Given the description of an element on the screen output the (x, y) to click on. 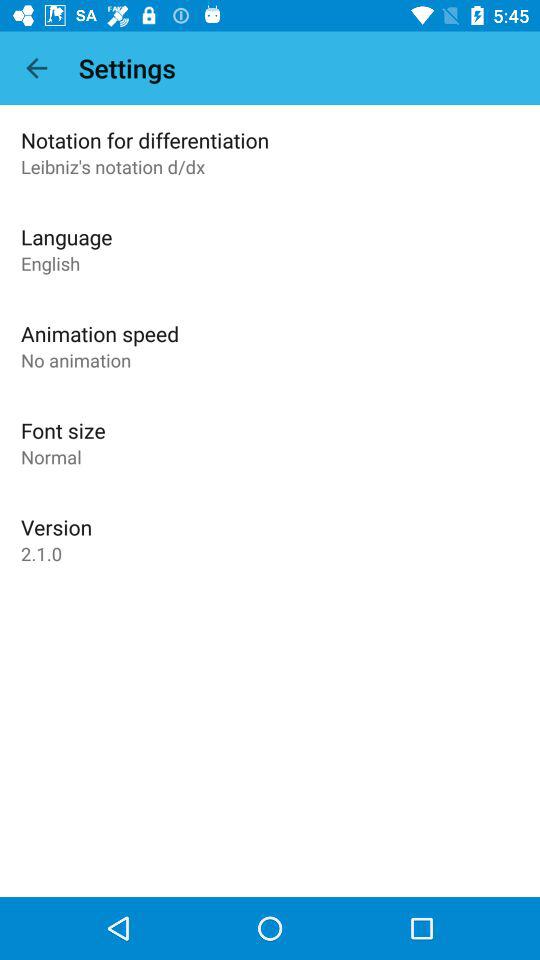
choose the english icon (50, 263)
